Given the description of an element on the screen output the (x, y) to click on. 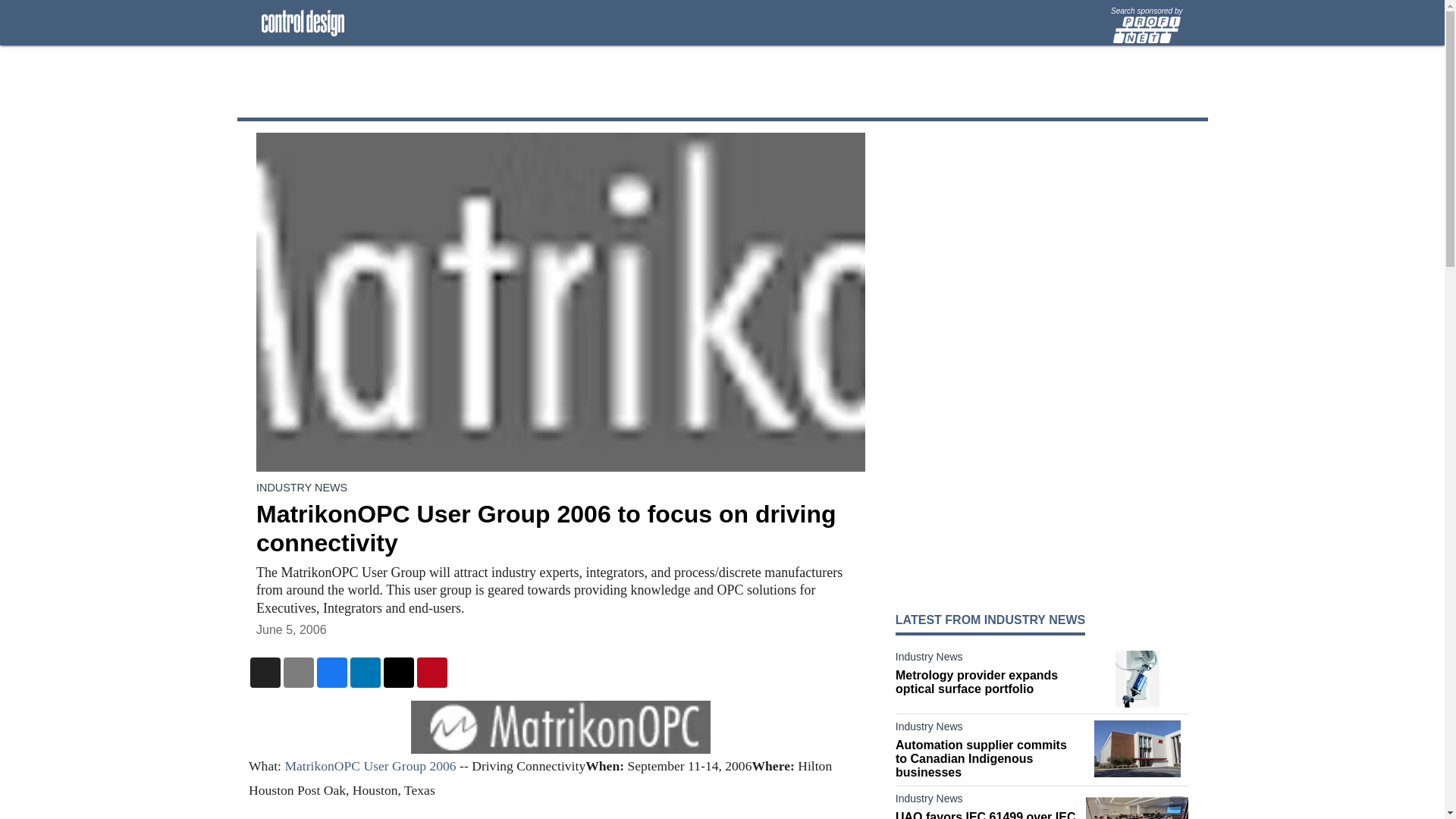
INDUSTRY NEWS (301, 487)
UAO favors IEC 61499 over IEC 61131 (986, 814)
MatrikonOPC User Group 2006 (369, 765)
Metrology provider expands optical surface portfolio (986, 682)
Industry News (986, 659)
Industry News (986, 729)
Industry News (986, 801)
